Given the description of an element on the screen output the (x, y) to click on. 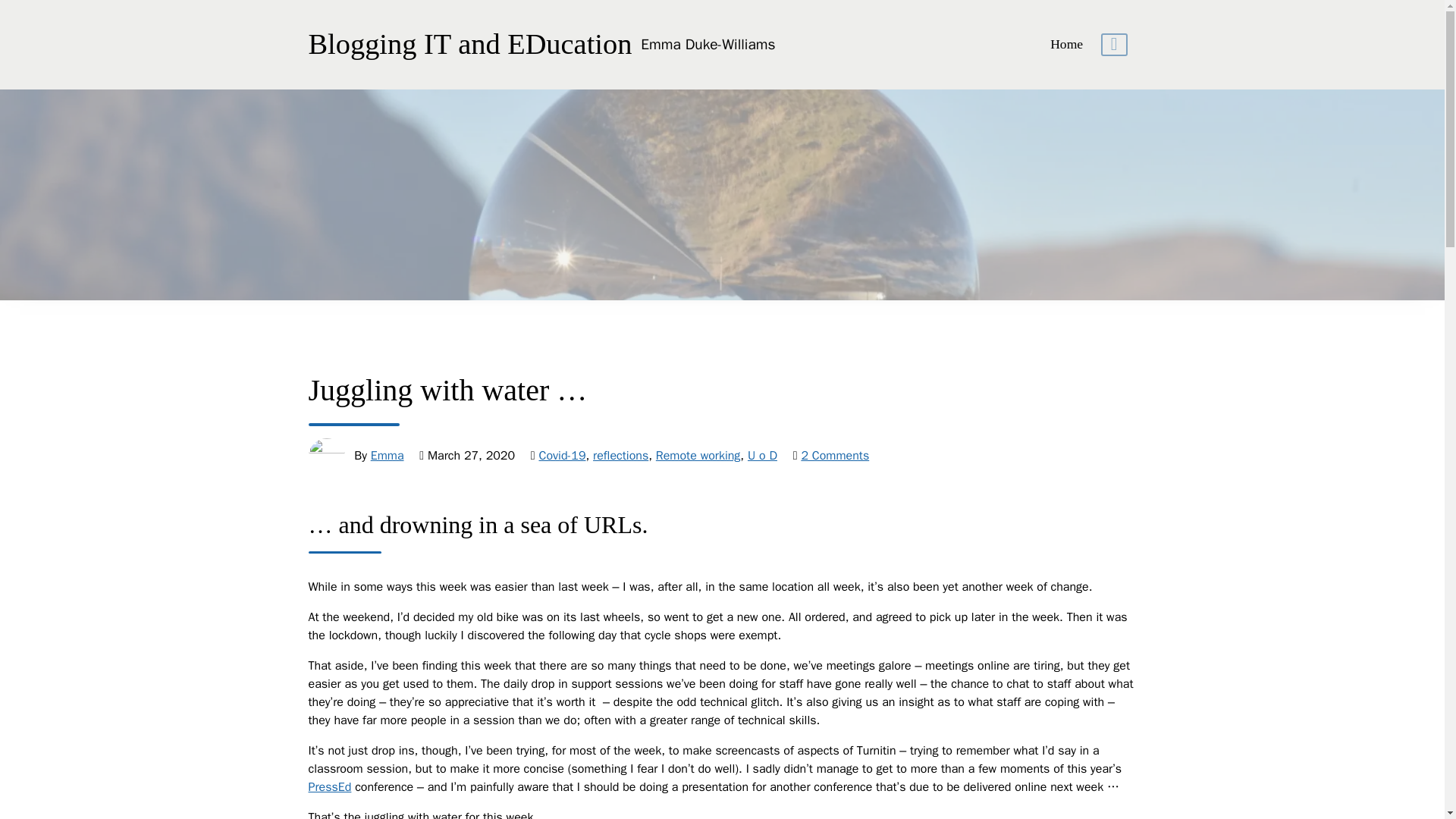
Blogging IT and EDucation (469, 44)
Blogging IT and EDucation (707, 45)
Covid-19 (561, 455)
U o D (762, 455)
PressEd (328, 786)
Home (1066, 44)
Emma Duke-Williams (707, 45)
reflections (619, 455)
Blogging IT and EDucation (469, 44)
Home (1066, 44)
Emma (387, 455)
Remote working (698, 455)
TOGGLE SEARCH INTERFACE (1113, 44)
